Given the description of an element on the screen output the (x, y) to click on. 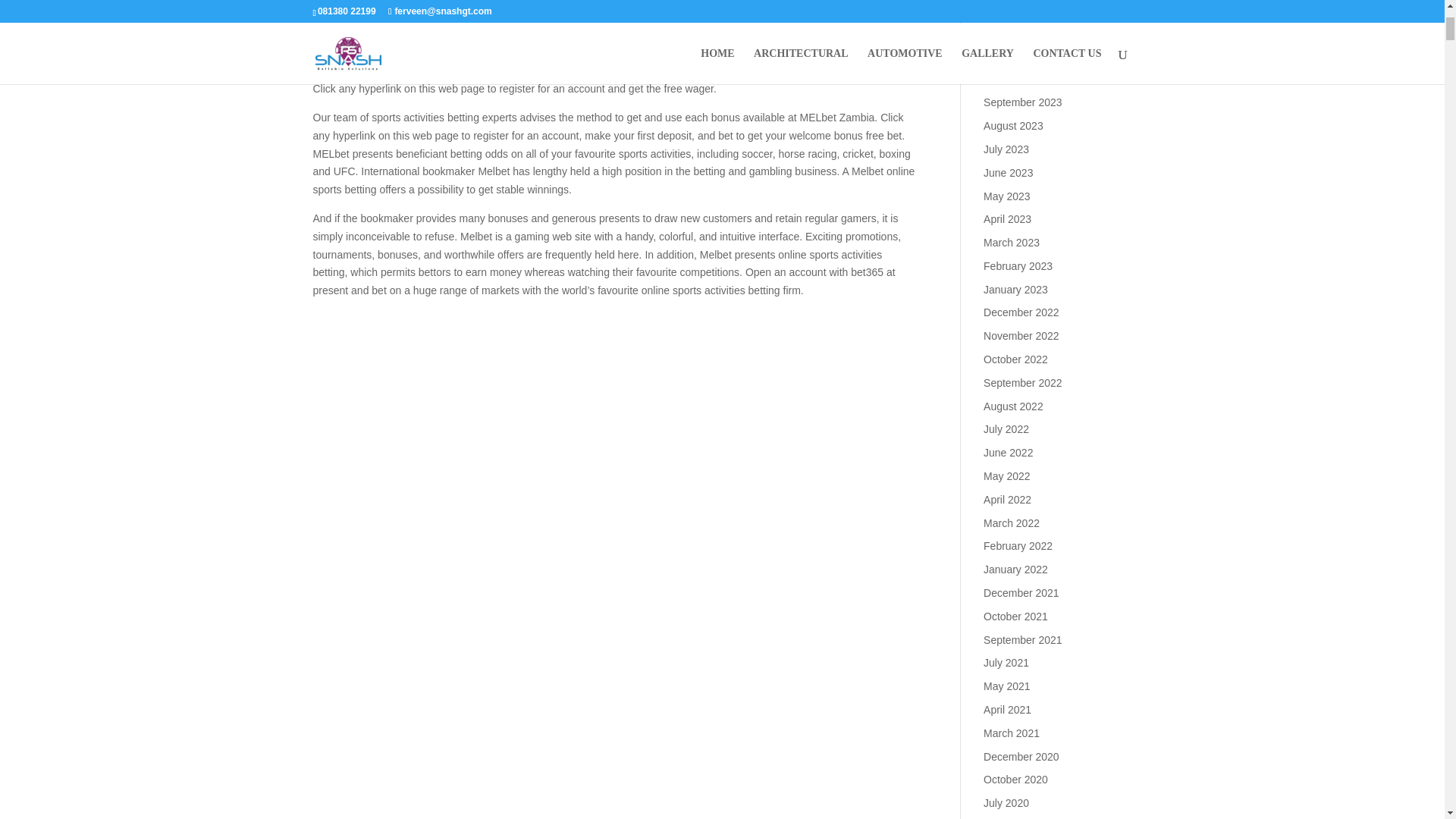
March 2023 (1011, 242)
May 2023 (1006, 195)
July 2023 (1006, 149)
December 2023 (1021, 32)
August 2023 (1013, 125)
February 2023 (1018, 265)
October 2023 (1016, 79)
November 2023 (1021, 55)
September 2023 (1023, 102)
June 2023 (1008, 173)
January 2024 (1016, 9)
April 2023 (1007, 218)
